Given the description of an element on the screen output the (x, y) to click on. 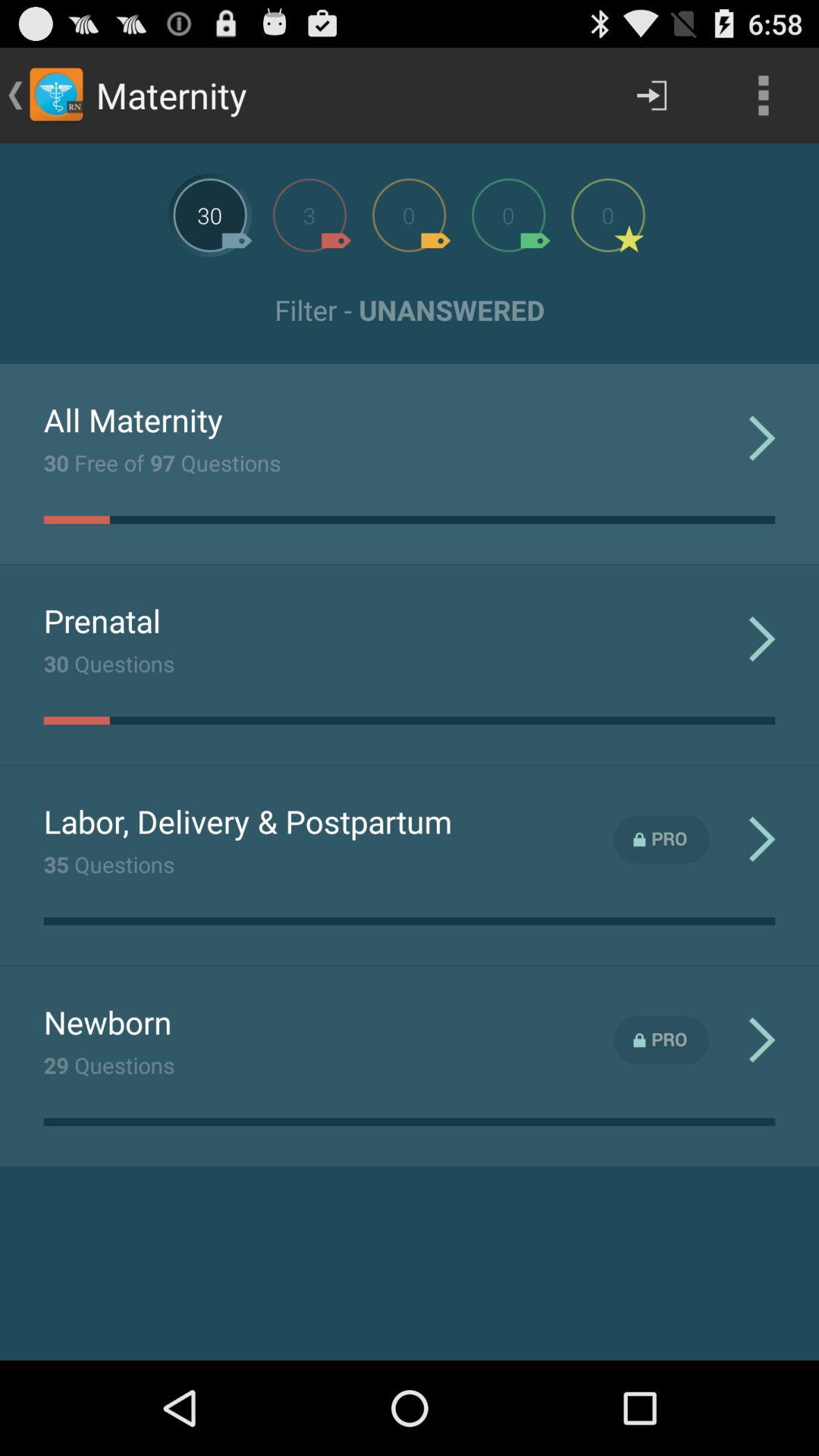
go to next (409, 215)
